Given the description of an element on the screen output the (x, y) to click on. 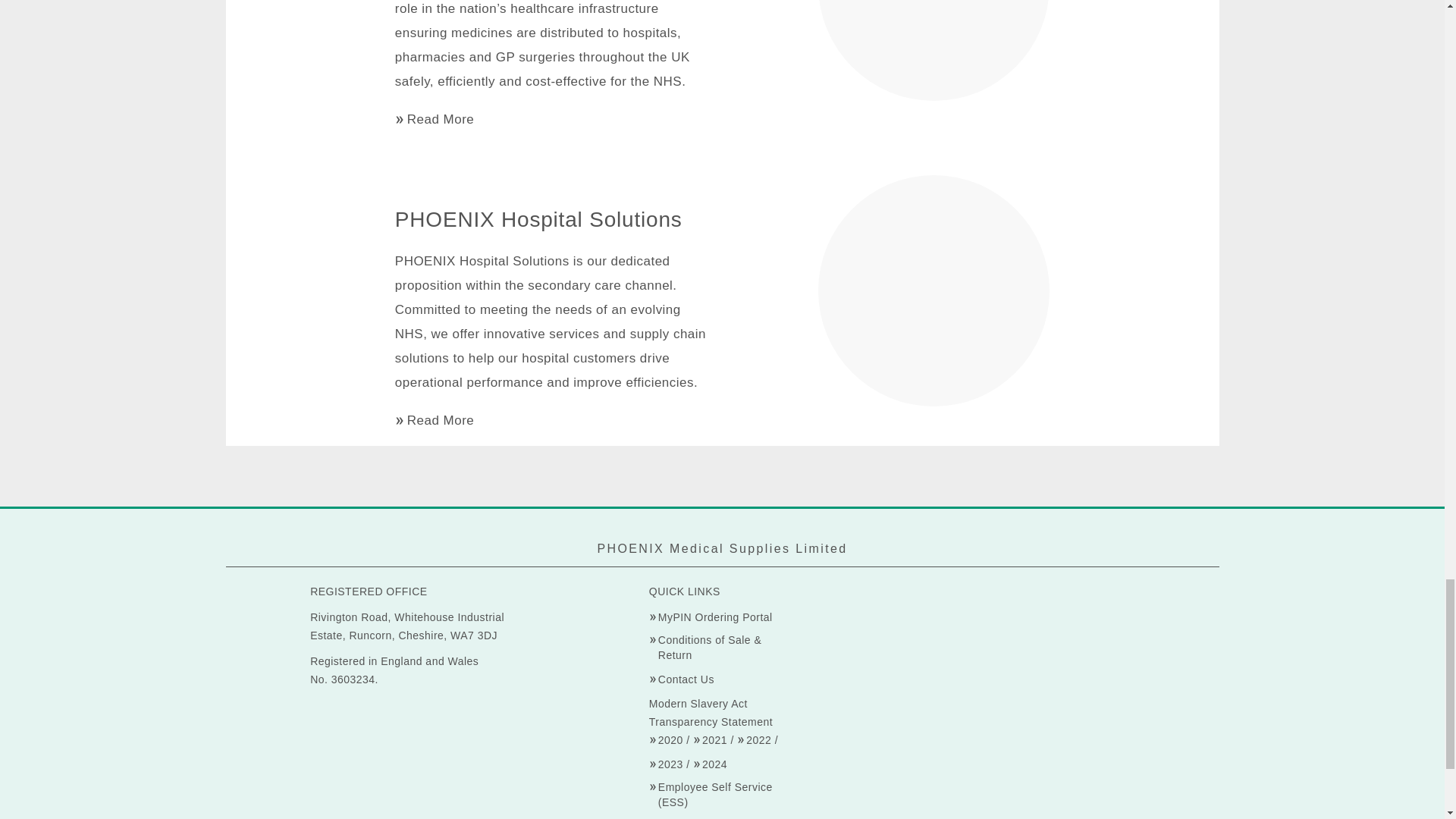
Opens external link in new window (665, 739)
Opens external link in new window (681, 679)
Opens external link in new window (721, 647)
Opens external link in new window (721, 794)
Read More (434, 118)
slavery (665, 764)
Read More (434, 420)
Opens external link in new window (711, 616)
MyPIN Ordering Portal (711, 616)
